Given the description of an element on the screen output the (x, y) to click on. 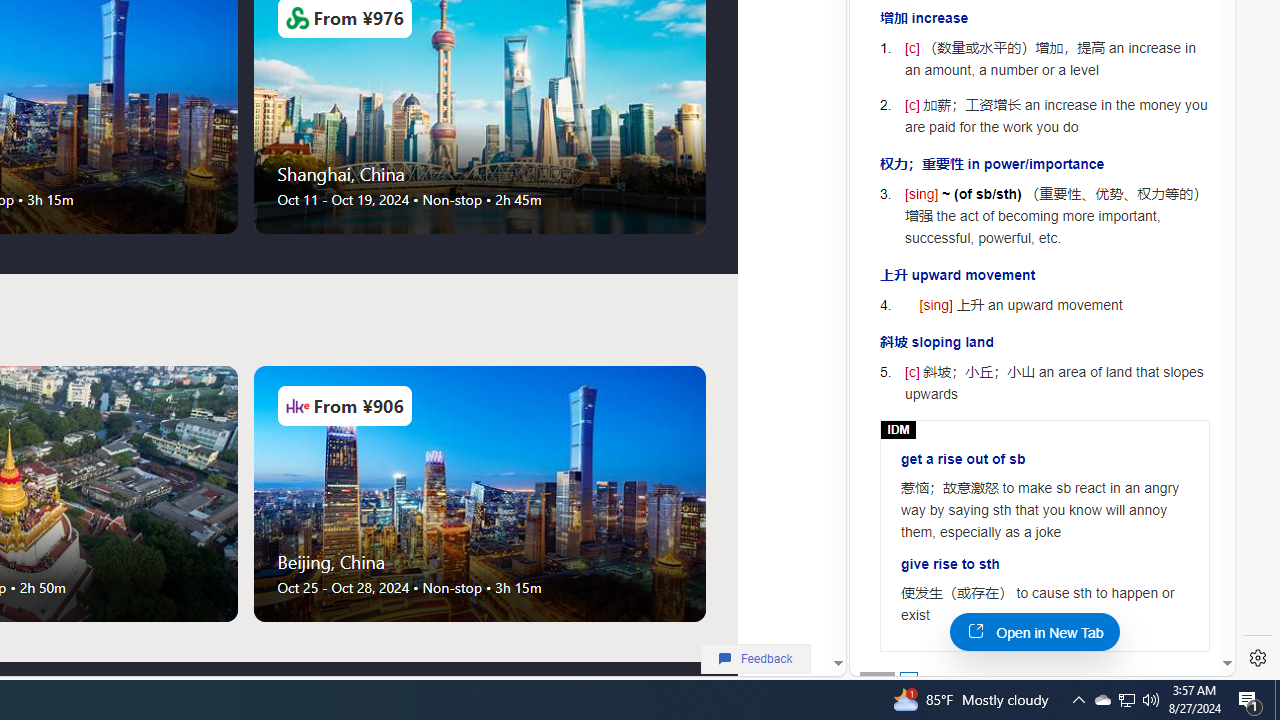
Airlines Logo (297, 405)
AutomationID: posbtn_1 (908, 680)
